Given the description of an element on the screen output the (x, y) to click on. 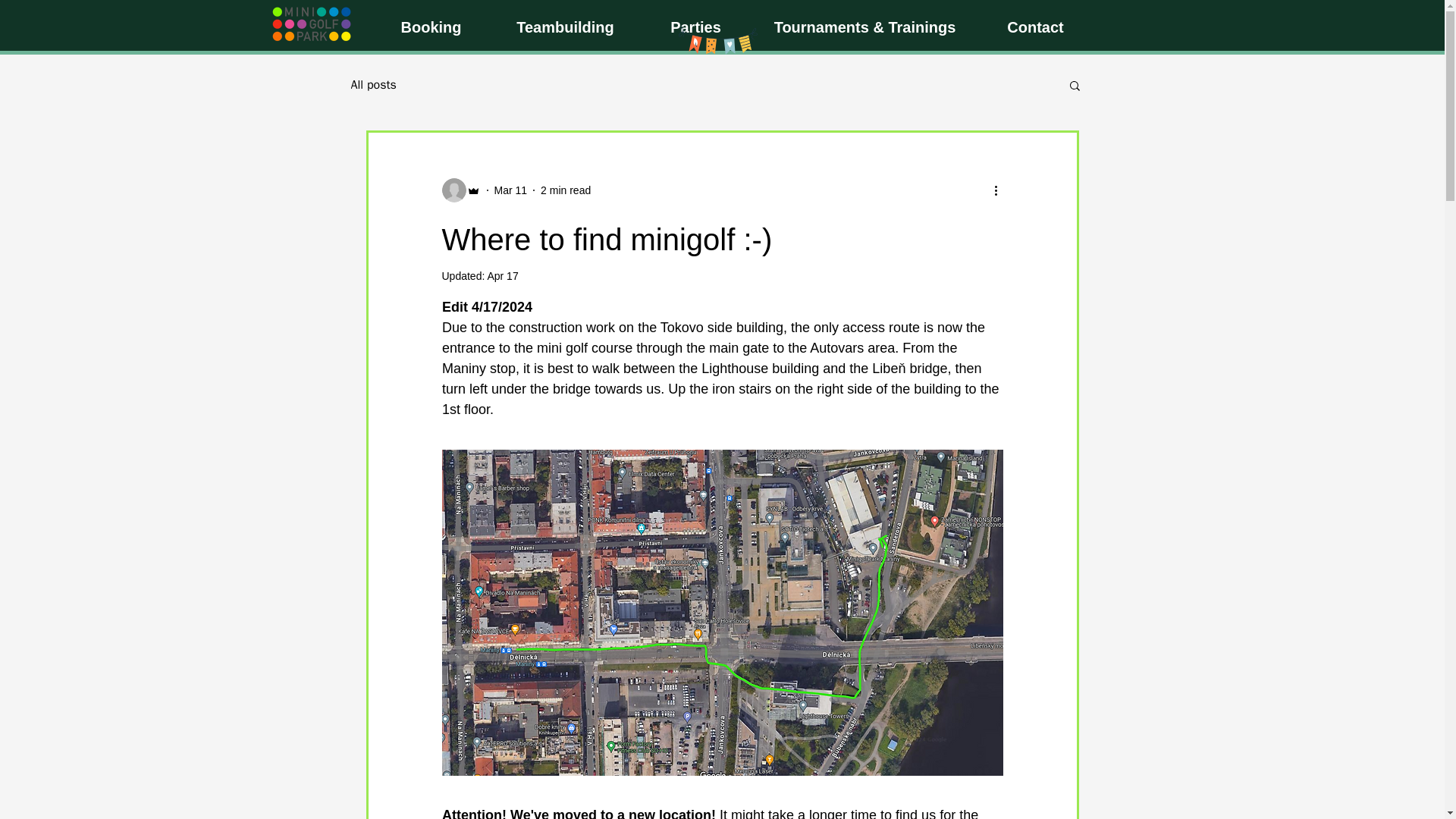
Apr 17 (502, 275)
Mar 11 (511, 189)
2 min read (565, 189)
Booking (429, 26)
Parties (695, 26)
Teambuilding (564, 26)
Contact (1034, 26)
All posts (373, 84)
